Given the description of an element on the screen output the (x, y) to click on. 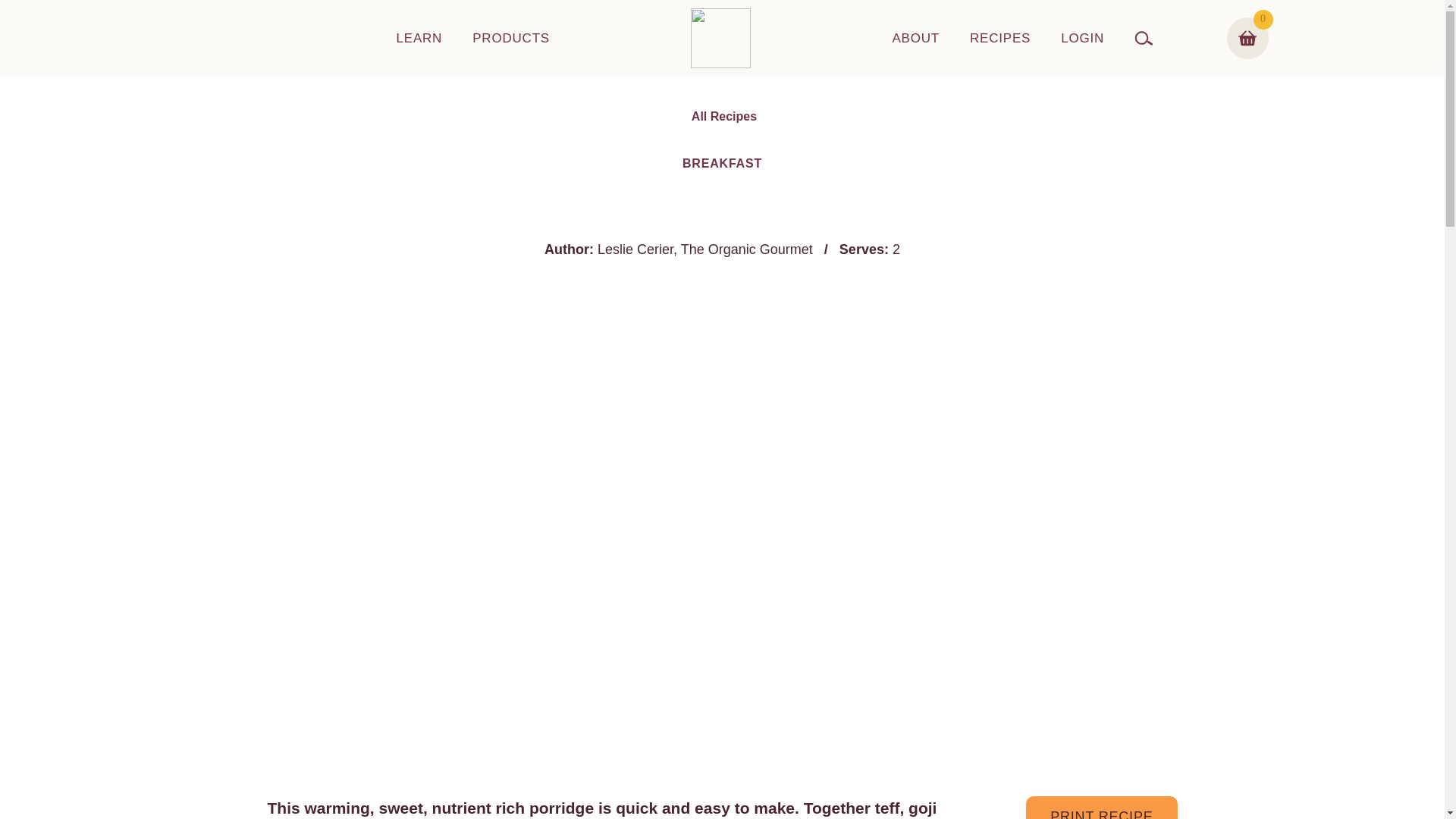
LEARN (419, 38)
PRODUCTS (510, 38)
BREAKFAST (721, 163)
LOGIN (1082, 38)
The Organic Gourmet (746, 249)
RECIPES (999, 38)
ABOUT (915, 38)
Leslie Cerier (634, 249)
All Recipes (721, 116)
